Given the description of an element on the screen output the (x, y) to click on. 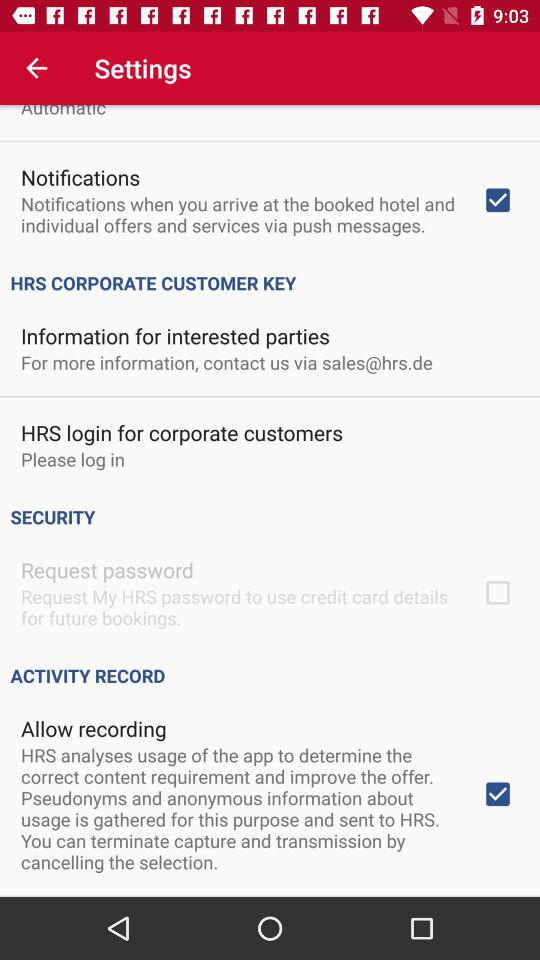
click the item above automatic (36, 68)
